Given the description of an element on the screen output the (x, y) to click on. 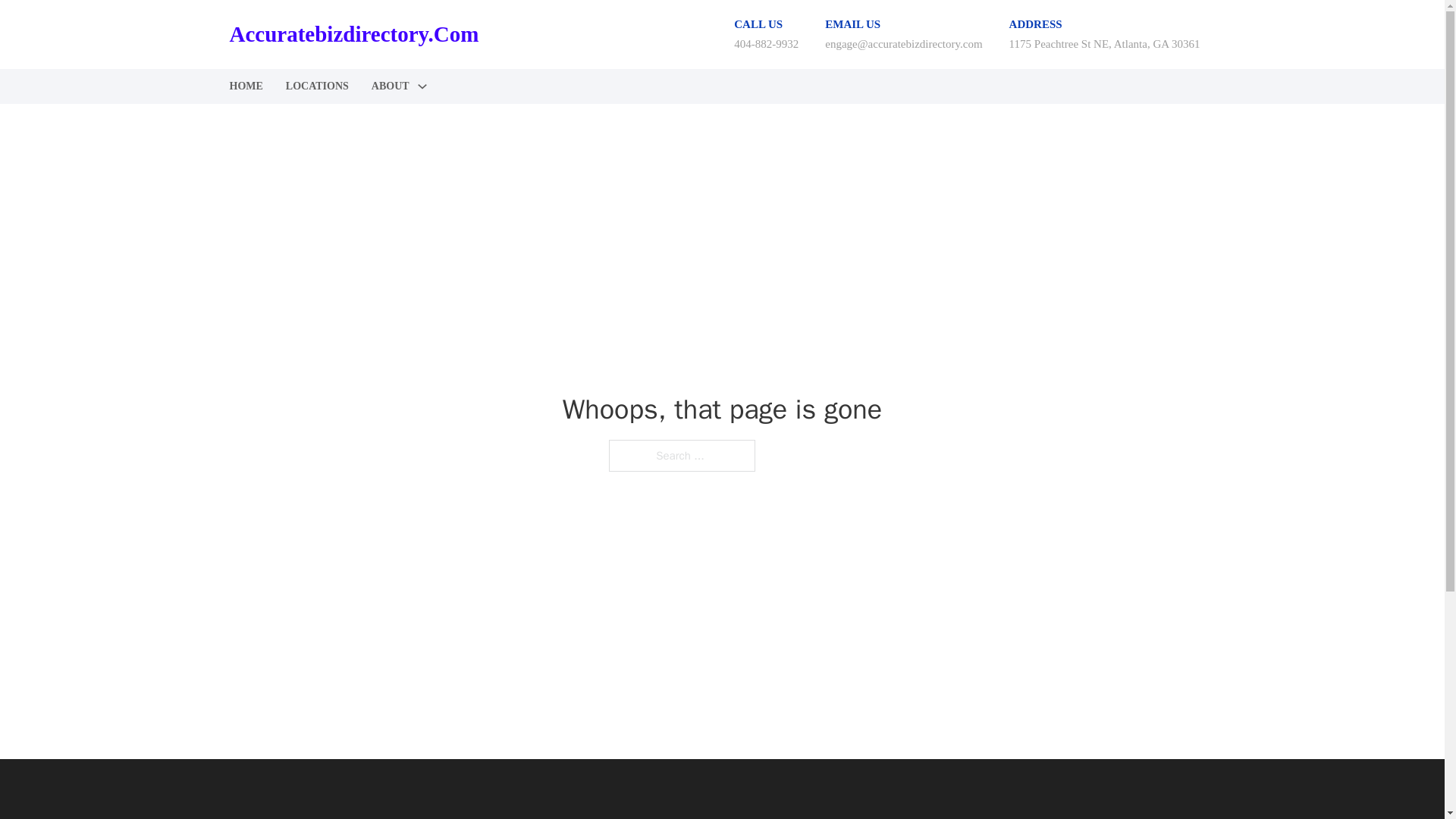
404-882-9932 (765, 43)
LOCATIONS (317, 85)
Accuratebizdirectory.Com (353, 34)
HOME (245, 85)
